Given the description of an element on the screen output the (x, y) to click on. 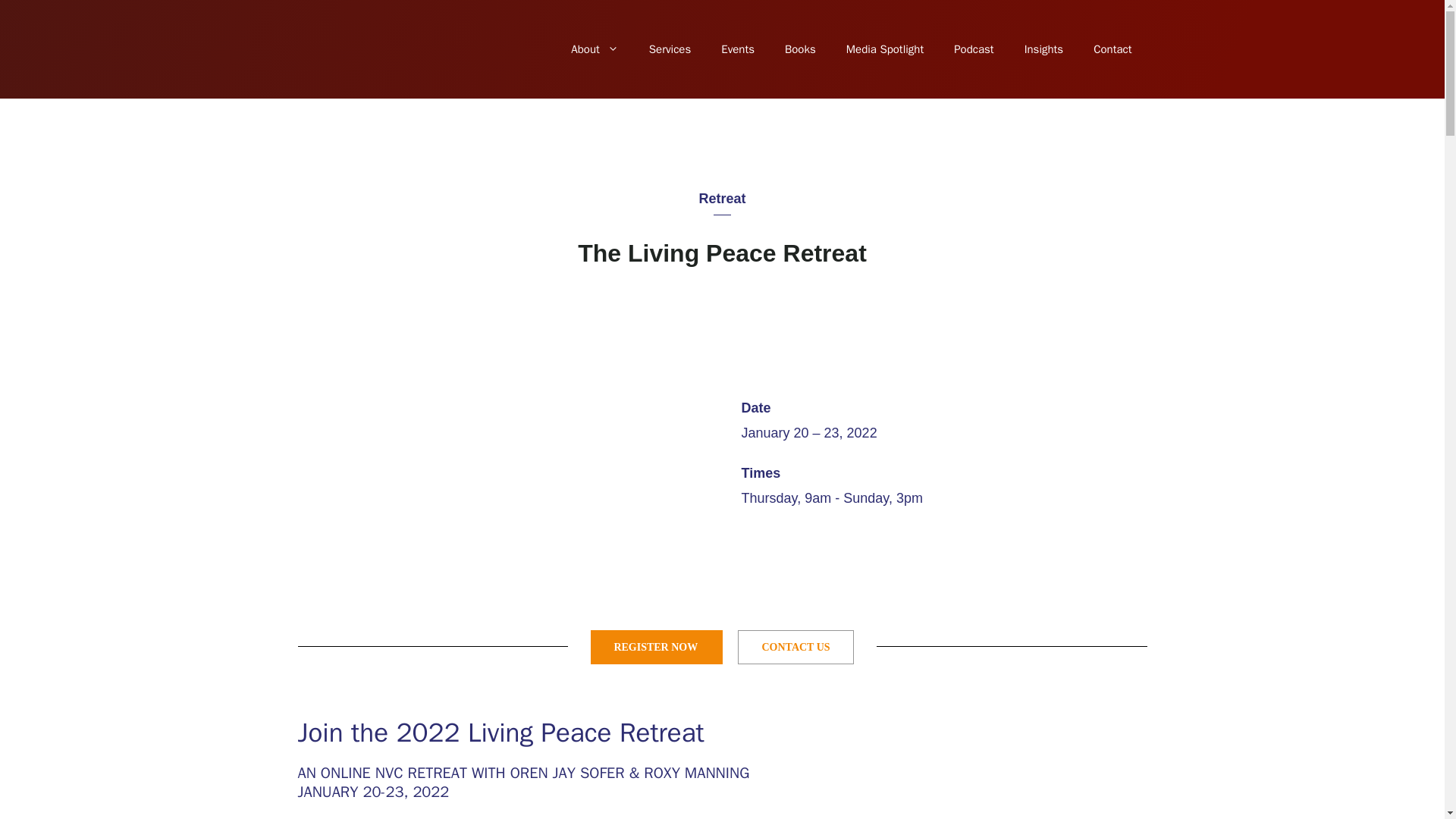
Books (800, 49)
REGISTER NOW (656, 646)
CONTACT US (795, 646)
Insights (1043, 49)
Contact (1112, 49)
Events (738, 49)
About (594, 49)
Services (669, 49)
Media Spotlight (885, 49)
Podcast (974, 49)
